Given the description of an element on the screen output the (x, y) to click on. 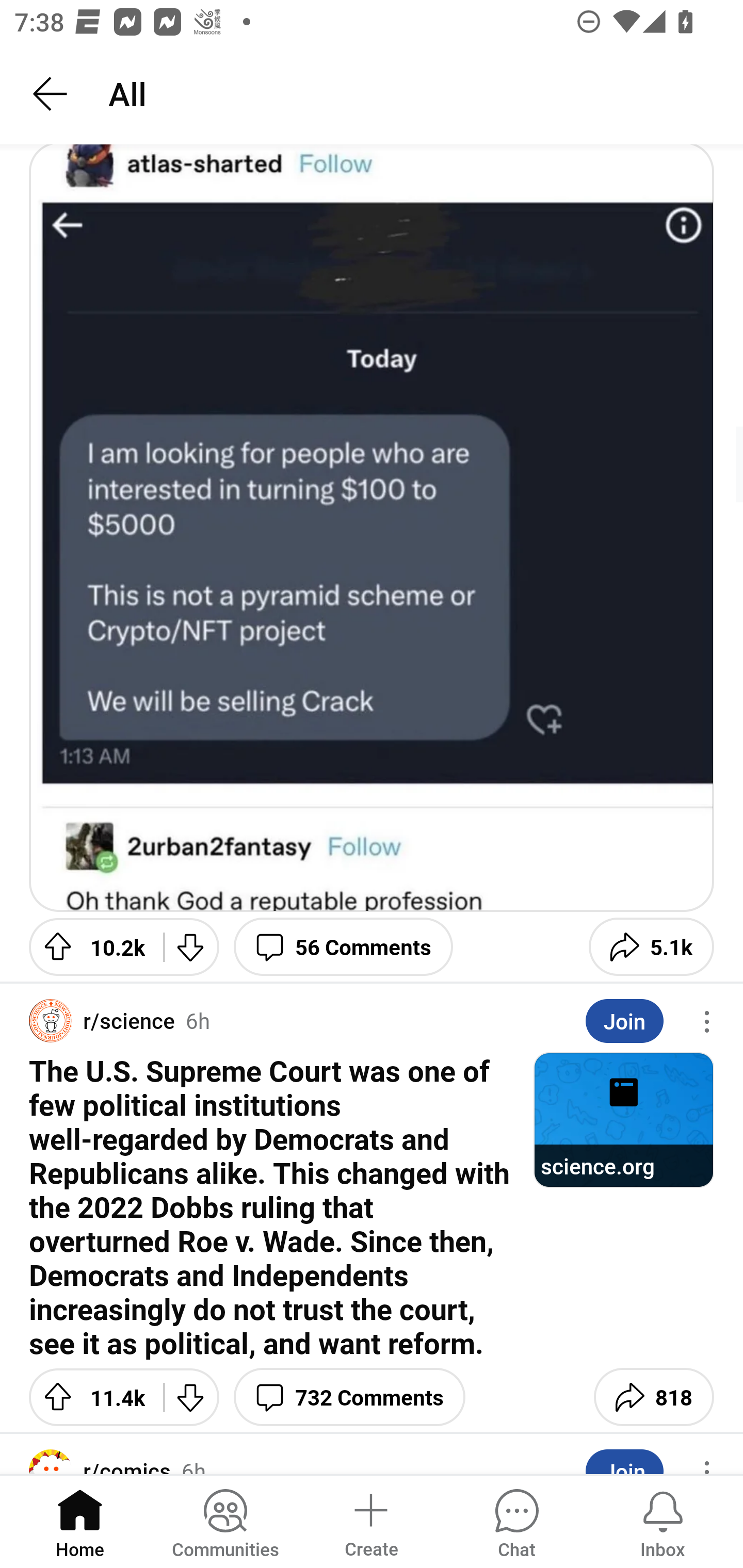
Image (371, 528)
Upvote 10.2k (88, 946)
Downvote (191, 946)
56 Comments (343, 946)
Share 5.1k (651, 946)
Avatar r/science (101, 1020)
Join (624, 1021)
Overflow menu (706, 1021)
Thumbnail image science.org (623, 1120)
Upvote 11.4k (88, 1396)
Downvote (191, 1396)
732 Comments (349, 1396)
Share 818 (653, 1396)
Home (80, 1520)
Communities (225, 1520)
Create a post Create (370, 1520)
Chat (516, 1520)
Inbox (662, 1520)
